Given the description of an element on the screen output the (x, y) to click on. 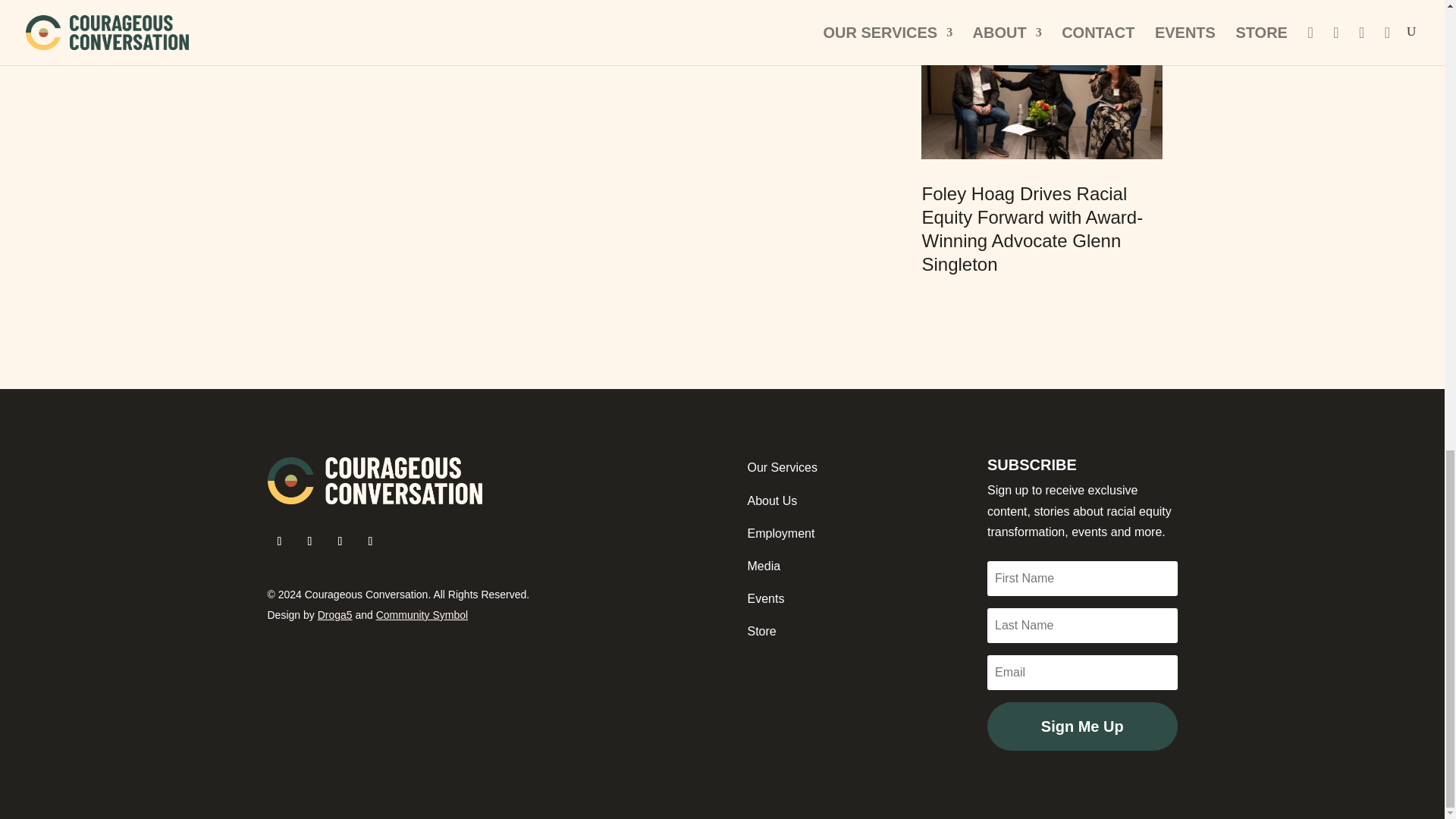
Follow on Facebook (278, 541)
Follow on Instagram (339, 541)
Follow on LinkedIn (369, 541)
Follow on X (309, 541)
Adweek (365, 32)
